Given the description of an element on the screen output the (x, y) to click on. 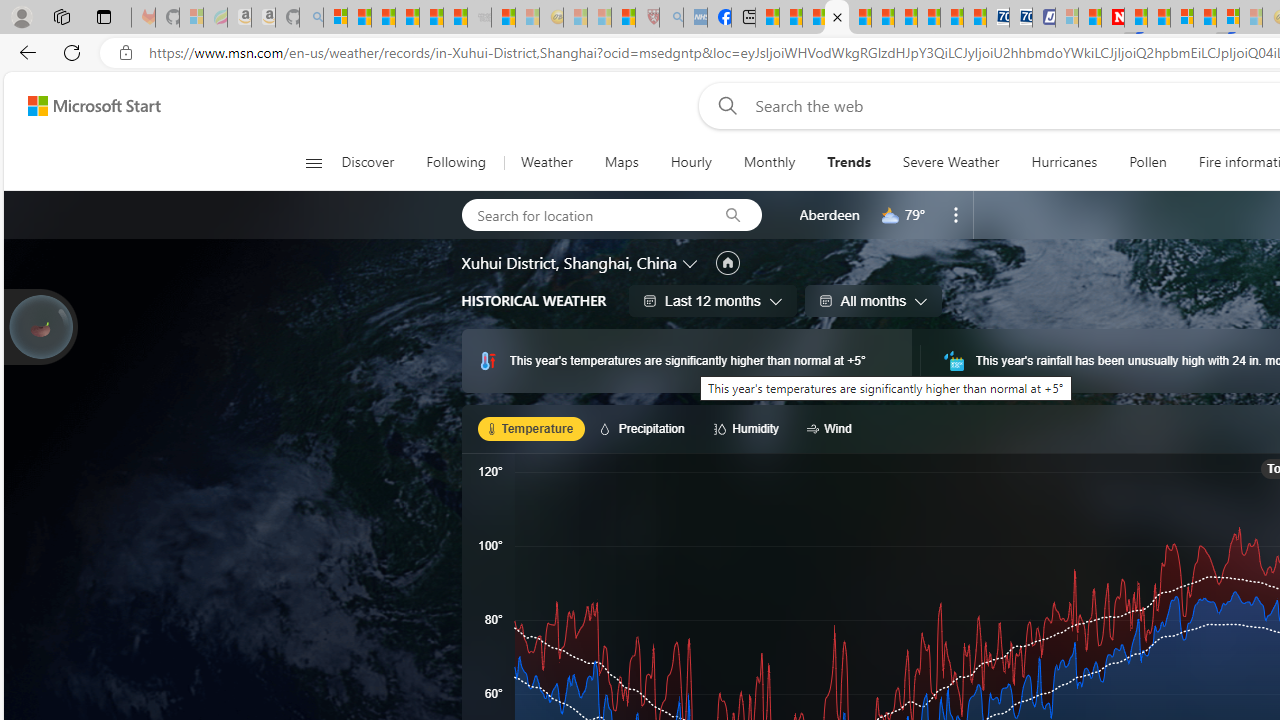
Cheap Hotels - Save70.com (1020, 17)
Wind (831, 428)
